Given the description of an element on the screen output the (x, y) to click on. 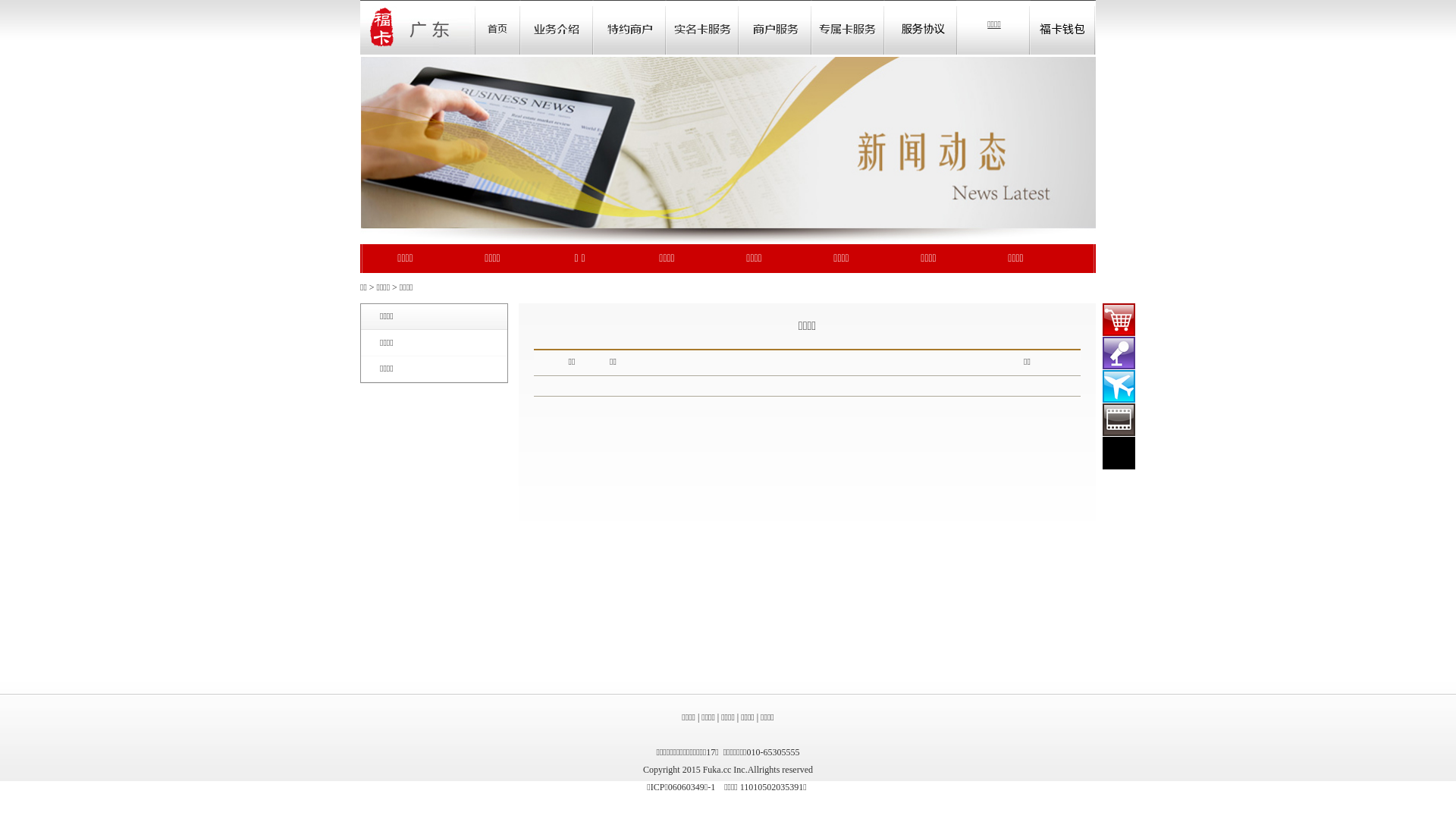
Store Locator Element type: text (920, 27)
Sale Element type: text (629, 27)
Store Locator Element type: text (847, 27)
Store Locator Element type: text (774, 27)
Community Element type: text (701, 27)
